Given the description of an element on the screen output the (x, y) to click on. 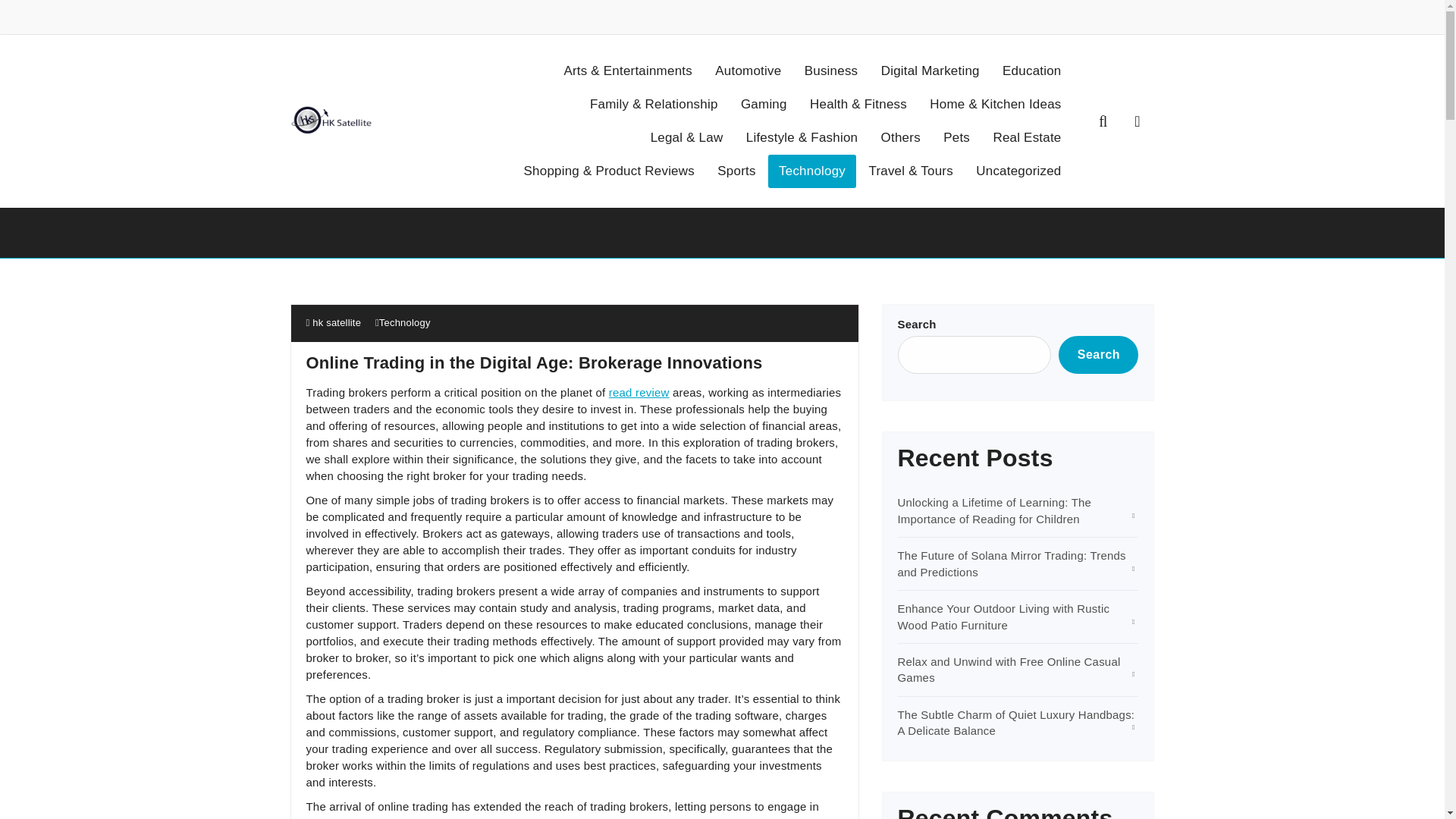
Real Estate (1026, 137)
Education (1031, 70)
Automotive (748, 70)
Pets (956, 137)
Business (831, 70)
read review (638, 391)
Gaming (763, 104)
Others (900, 137)
Digital Marketing (930, 70)
Sports (735, 171)
Technology (404, 322)
Uncategorized (1018, 171)
Online Trading in the Digital Age: Brokerage Innovations (533, 362)
Technology (812, 171)
hk satellite (333, 322)
